Given the description of an element on the screen output the (x, y) to click on. 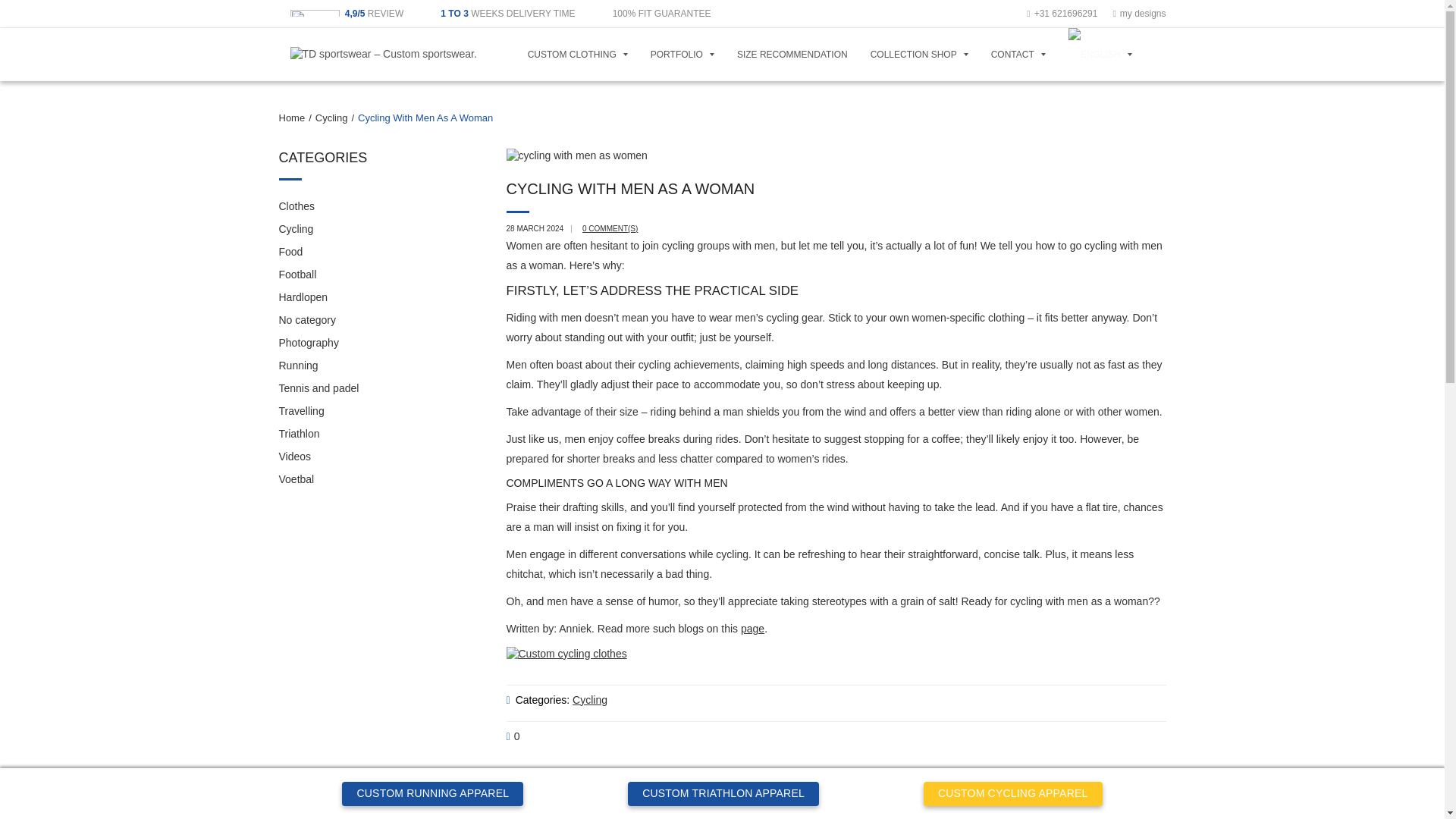
Portfolio (682, 54)
CONTACT (1018, 54)
CUSTOM CLOTHING (577, 54)
SIZE RECOMMENDATION (792, 54)
PORTFOLIO (682, 54)
Total Comments (512, 736)
COLLECTION SHOP (919, 54)
my designs (1139, 13)
